Given the description of an element on the screen output the (x, y) to click on. 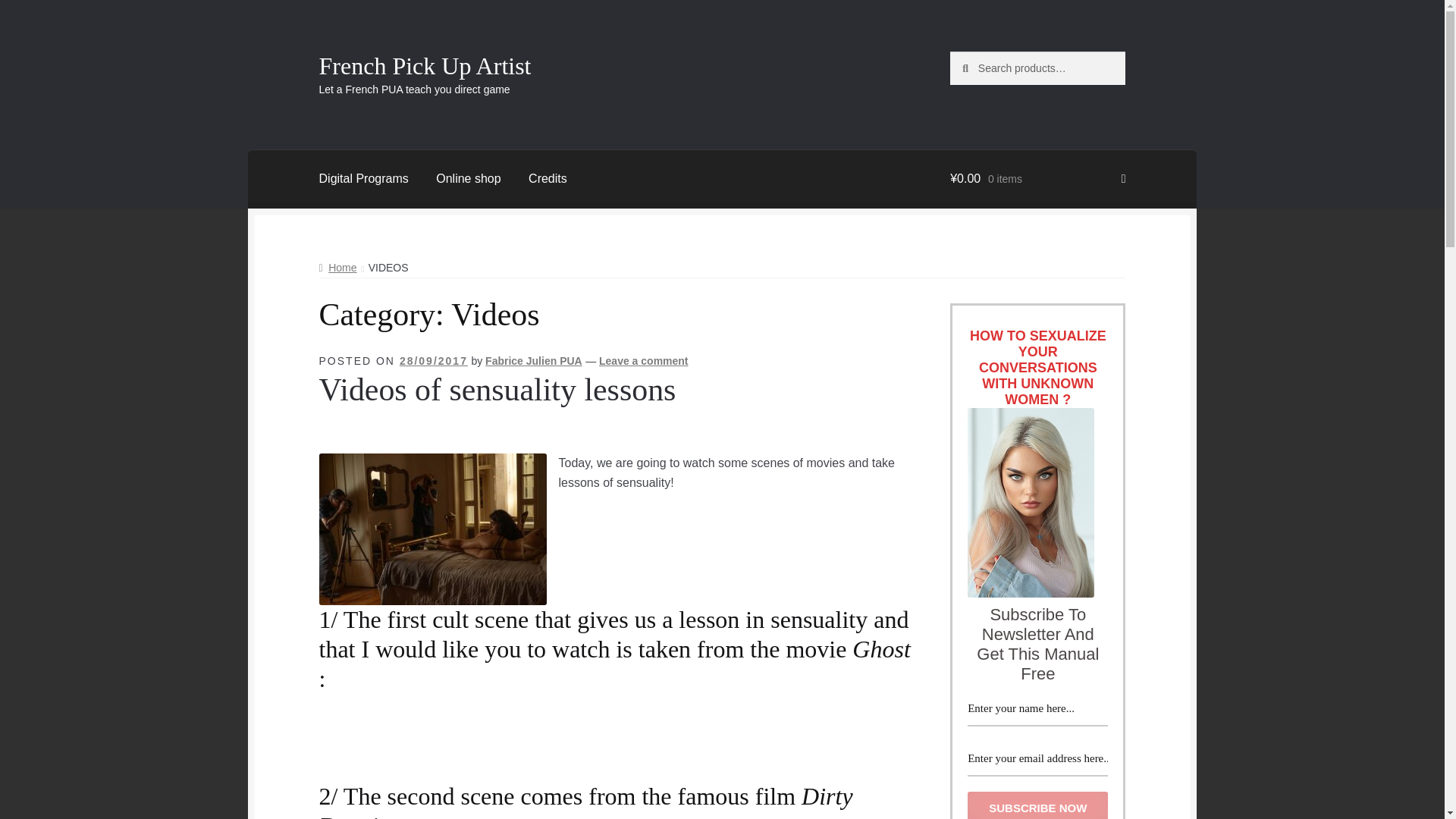
French Pick Up Artist (424, 65)
Online shop (467, 178)
View your shopping cart (1037, 178)
Subscribe Now (1038, 805)
Credits (547, 178)
Digital Programs (363, 178)
